Given the description of an element on the screen output the (x, y) to click on. 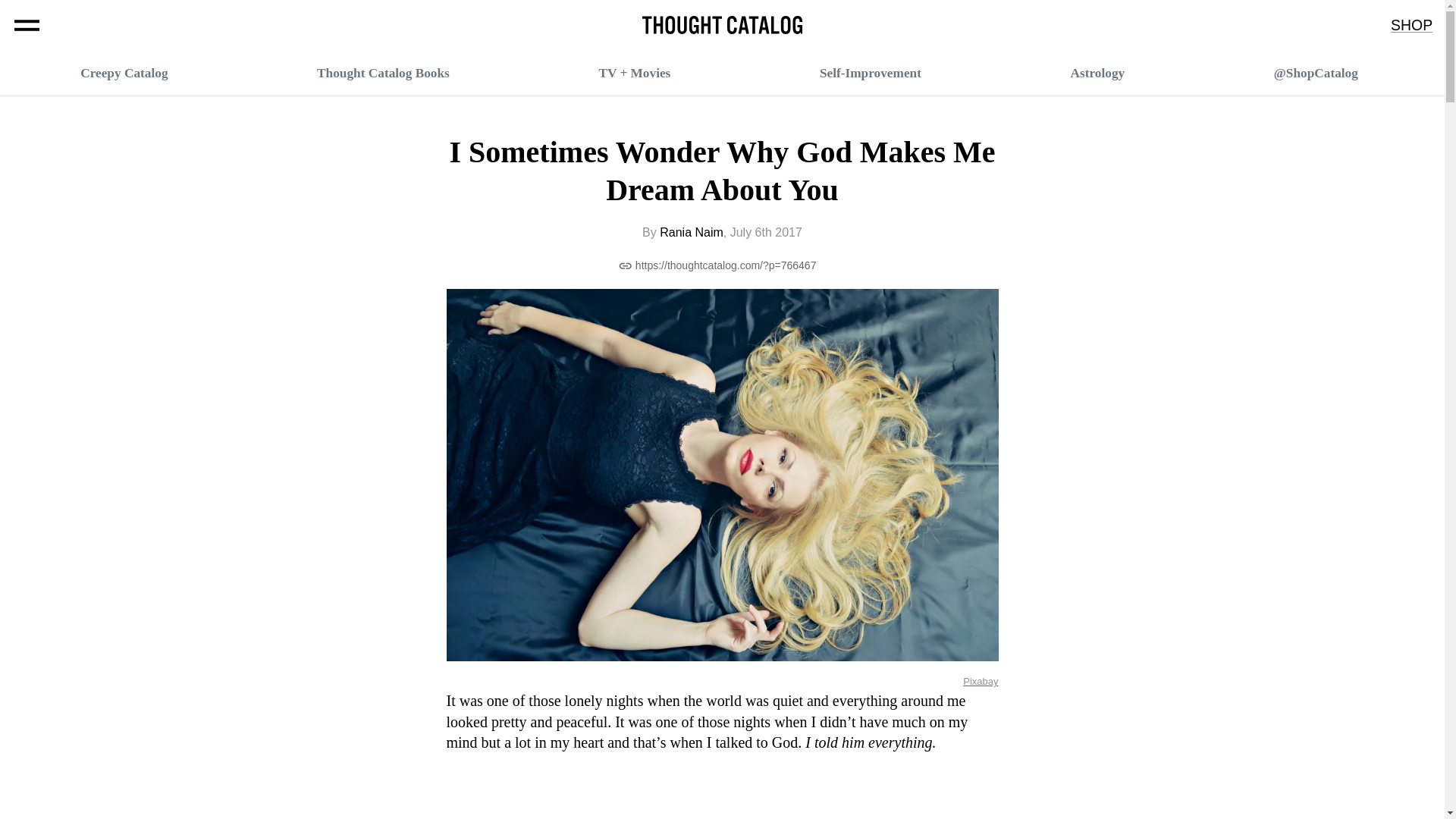
Pixabay (979, 688)
Short link to article (716, 265)
More by Rania Naim (691, 232)
SHOP (1411, 25)
Astrology (1097, 73)
Rania Naim (691, 232)
Creepy Catalog (123, 73)
Self-Improvement (870, 73)
Thought Catalog Books (383, 73)
